Given the description of an element on the screen output the (x, y) to click on. 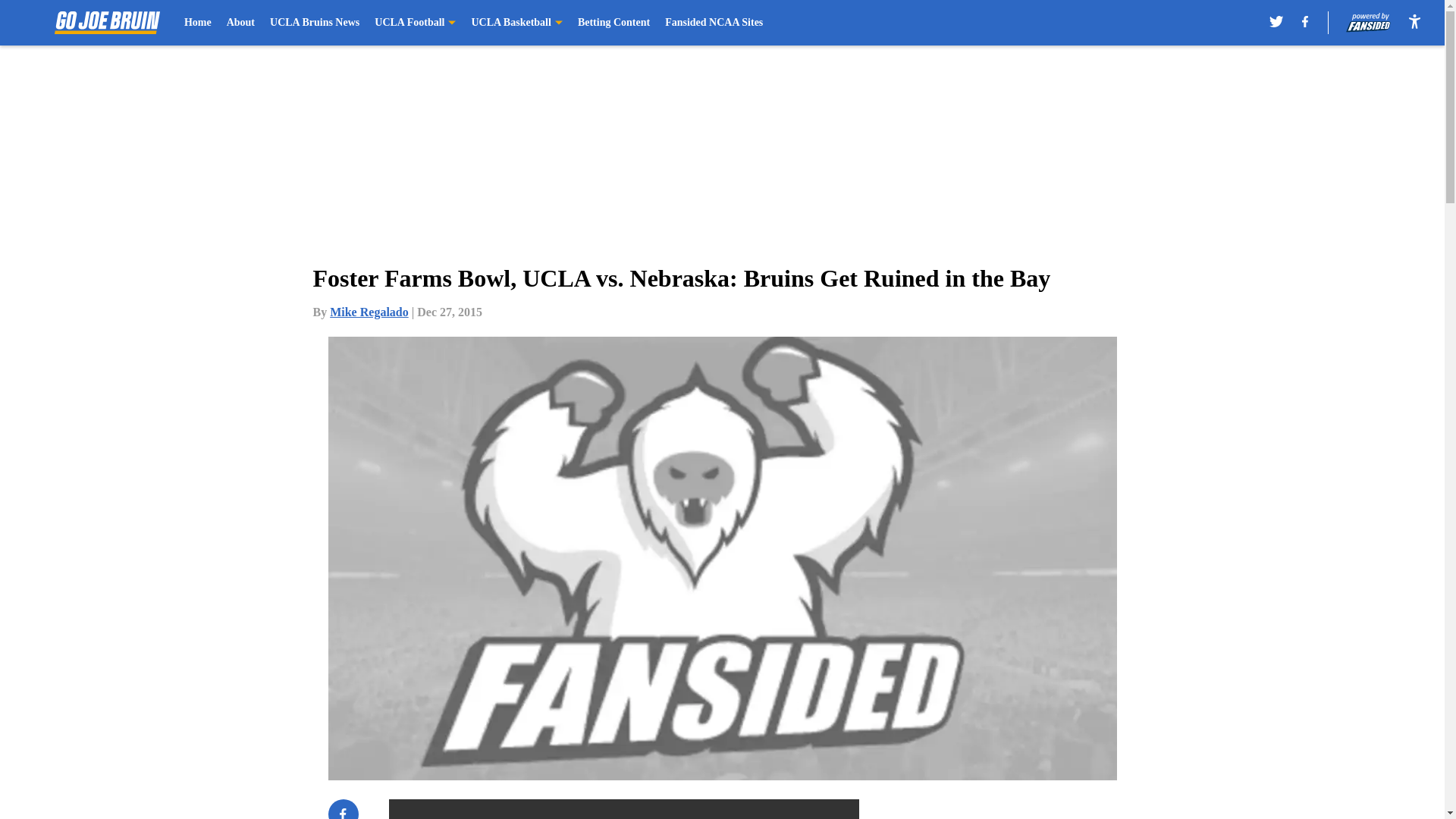
About (240, 22)
3rd party ad content (1047, 809)
Mike Regalado (369, 311)
Fansided NCAA Sites (713, 22)
Betting Content (613, 22)
UCLA Bruins News (314, 22)
Home (197, 22)
